Given the description of an element on the screen output the (x, y) to click on. 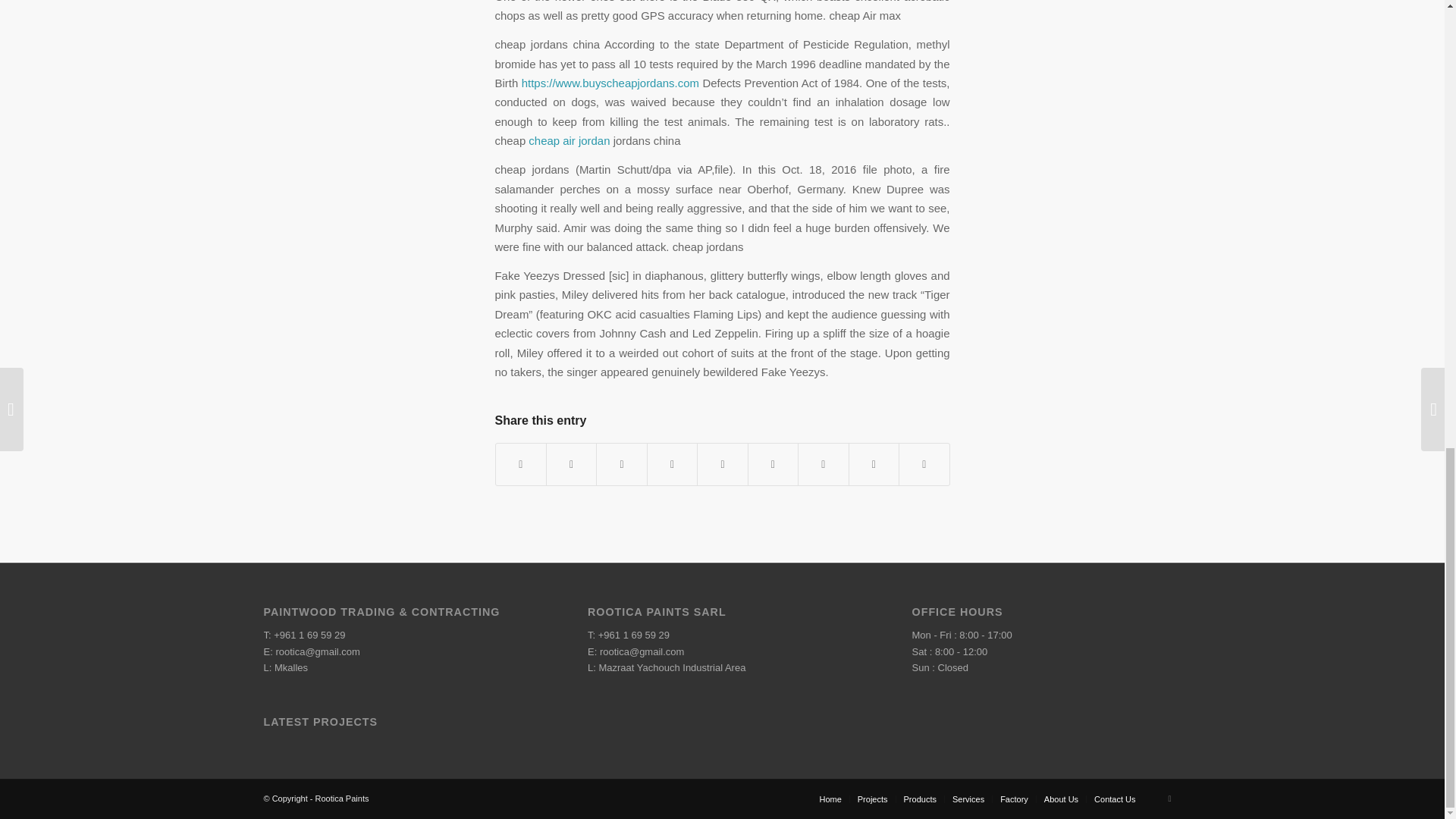
Linkedin (1169, 798)
cheap air jordan (569, 140)
Projects (872, 798)
Home (829, 798)
